Given the description of an element on the screen output the (x, y) to click on. 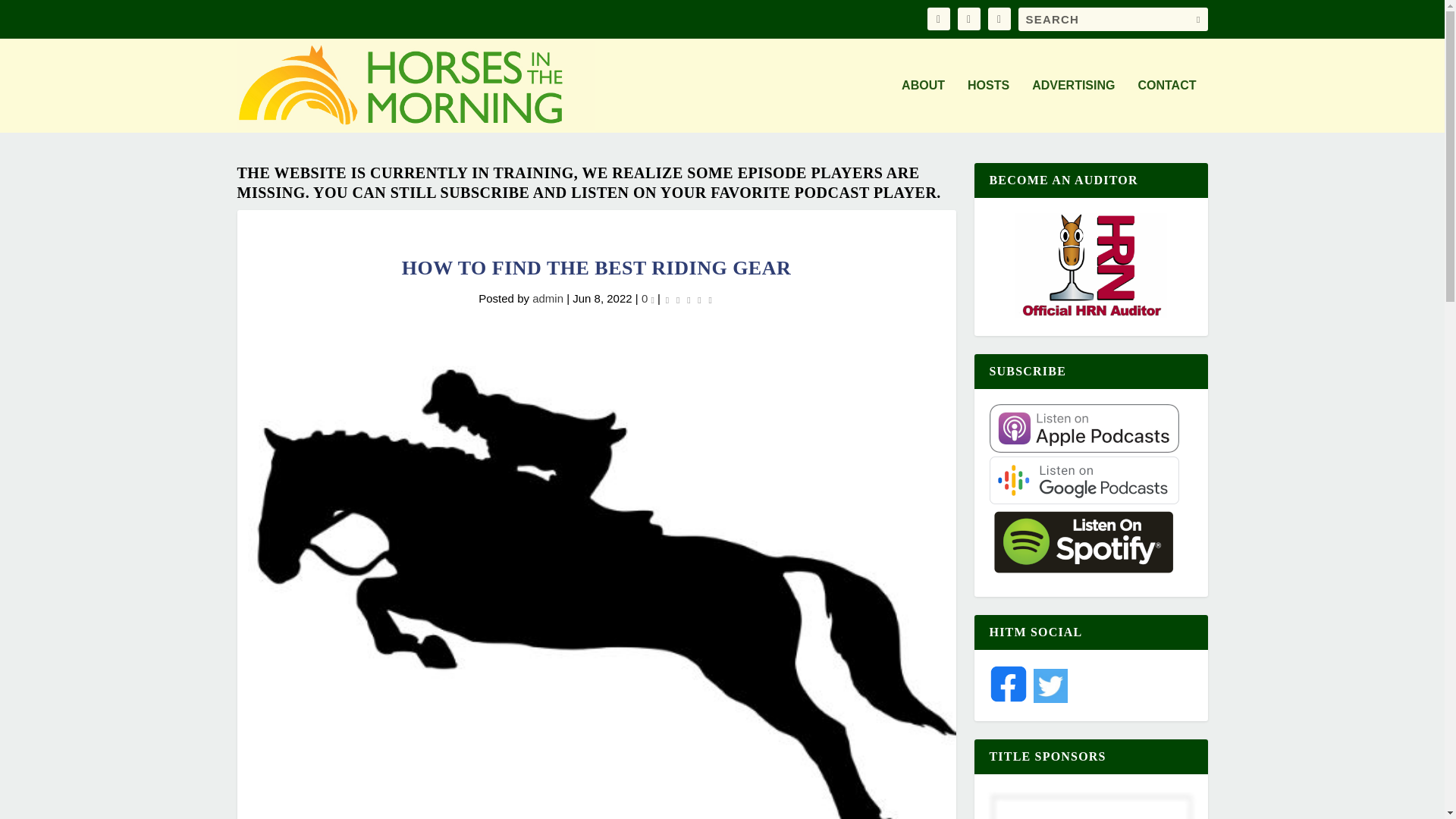
ADVERTISING (1073, 105)
CONTACT (1166, 105)
0 (647, 297)
admin (547, 297)
Search for: (1112, 19)
Posts by admin (547, 297)
Rating: 0.00 (688, 299)
